Given the description of an element on the screen output the (x, y) to click on. 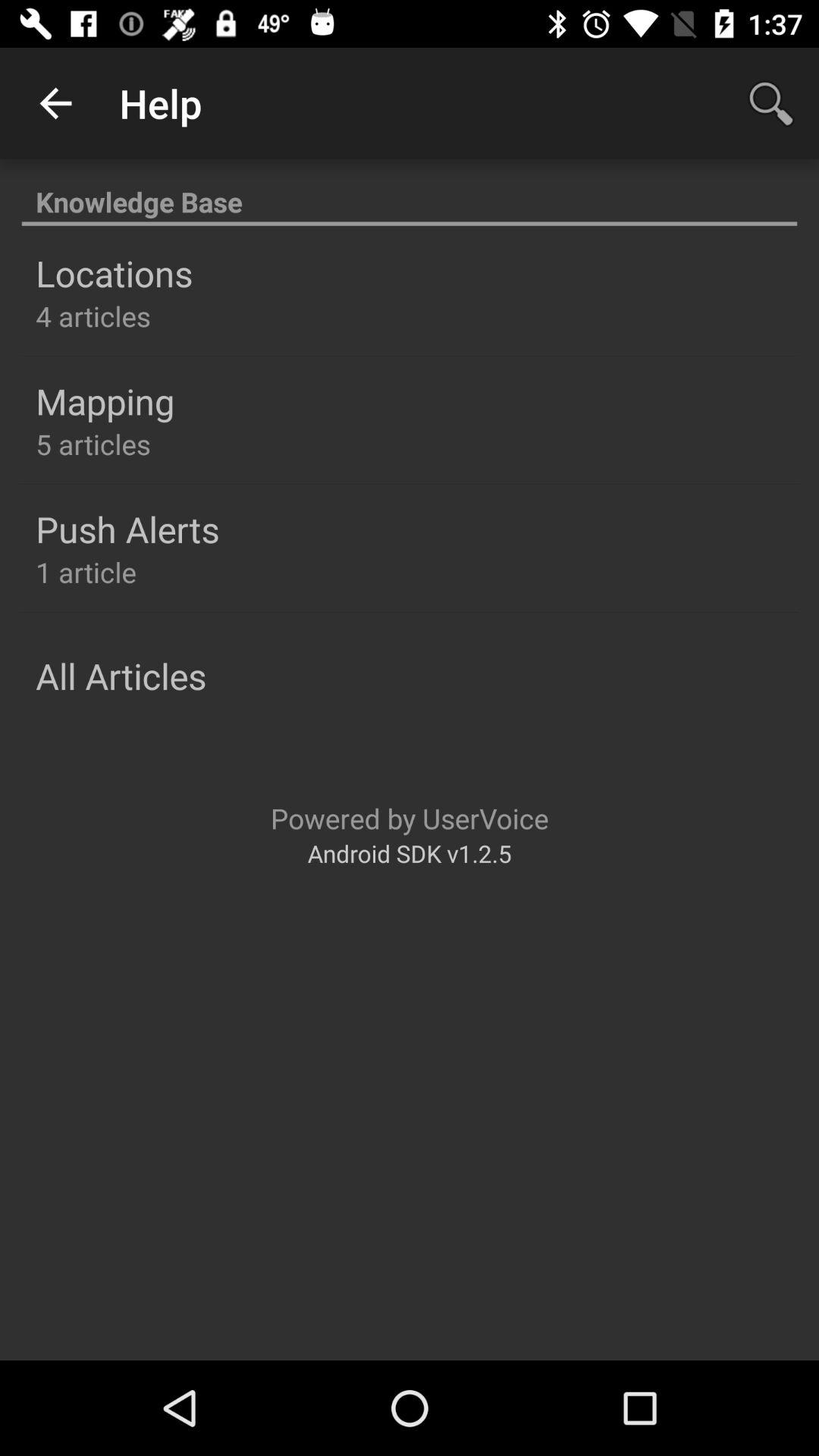
tap the 1 article (85, 571)
